Given the description of an element on the screen output the (x, y) to click on. 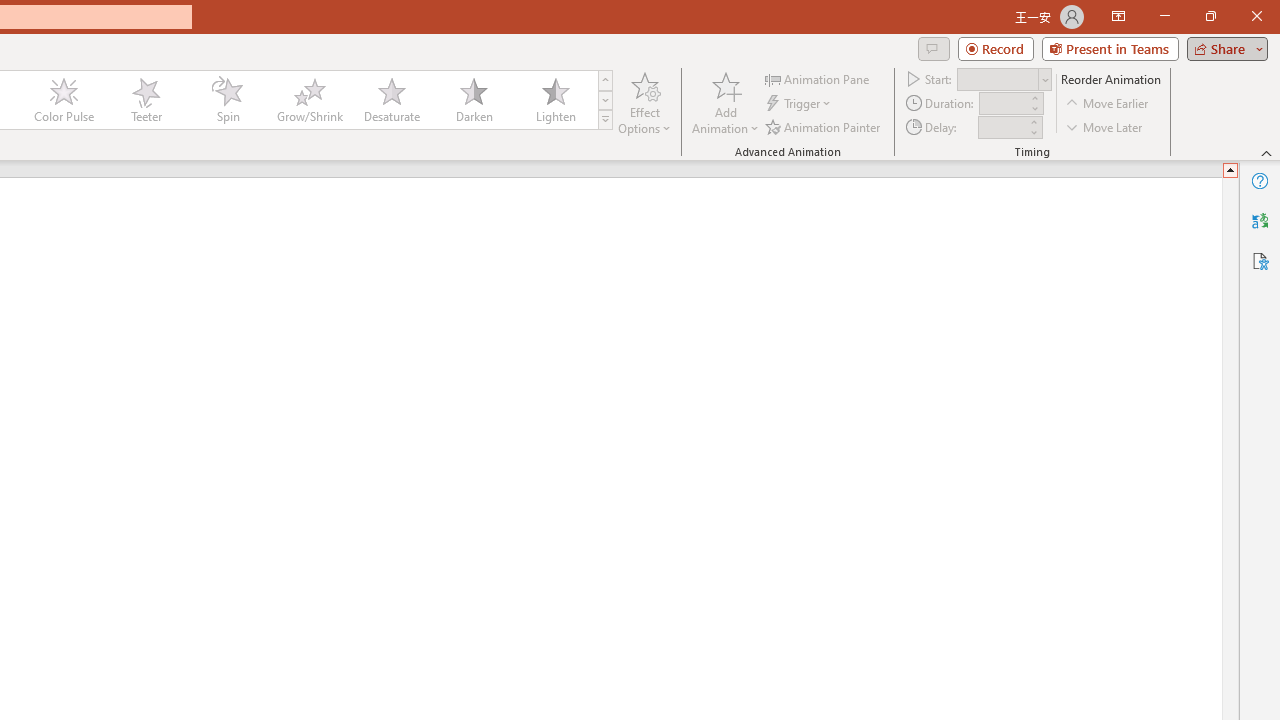
Add Animation (725, 102)
Grow/Shrink (309, 100)
Trigger (799, 103)
Animation Pane (818, 78)
Animation Delay (1002, 127)
Spin (227, 100)
